Given the description of an element on the screen output the (x, y) to click on. 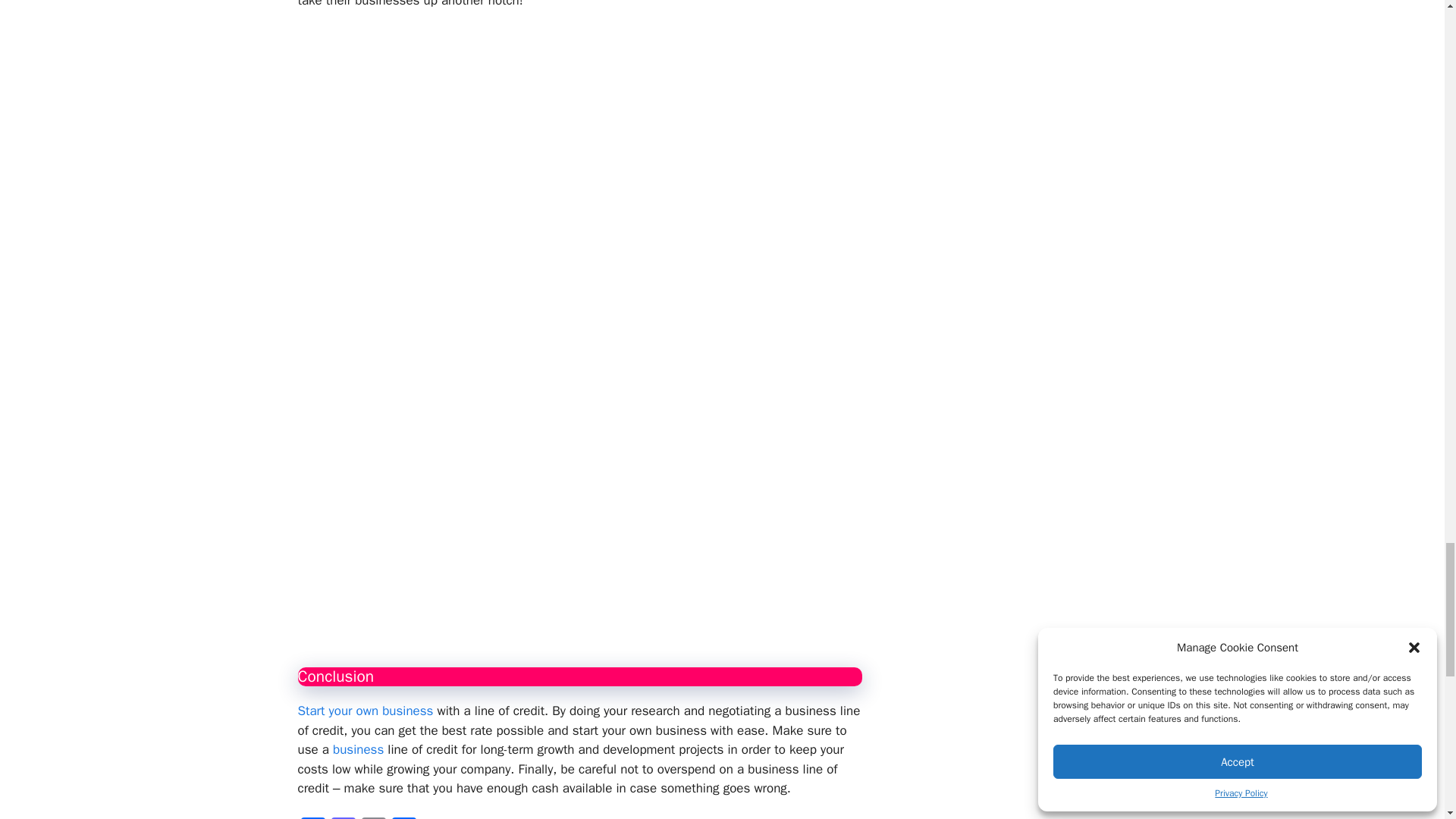
Email (373, 818)
business (358, 749)
Facebook (312, 818)
Mastodon (342, 818)
Start your own business (364, 710)
